Given the description of an element on the screen output the (x, y) to click on. 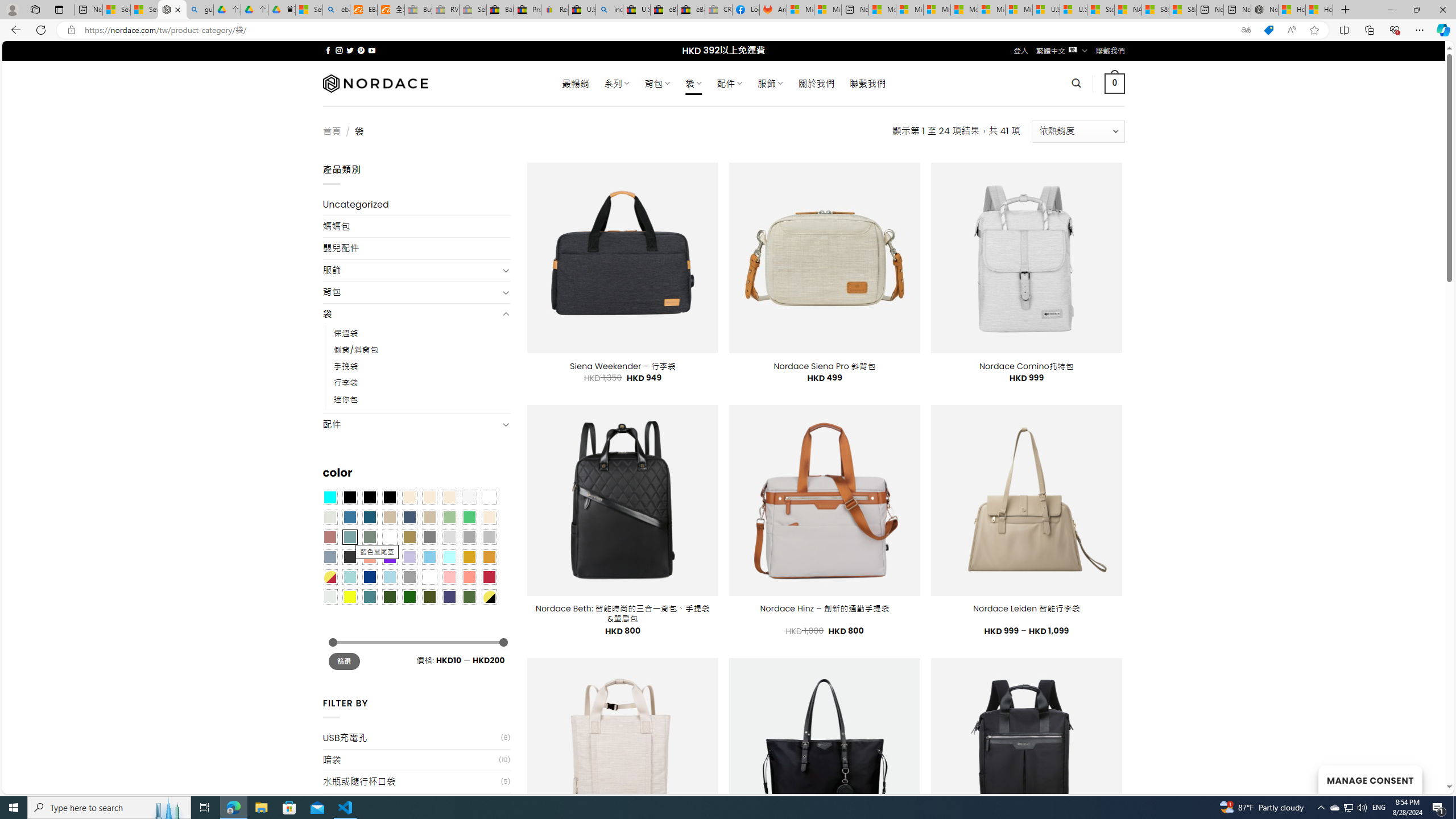
Show translate options (1245, 29)
U.S. State Privacy Disclosures - eBay Inc. (636, 9)
Press Room - eBay Inc. (527, 9)
Address and search bar (658, 29)
Minimize (1390, 9)
